Given the description of an element on the screen output the (x, y) to click on. 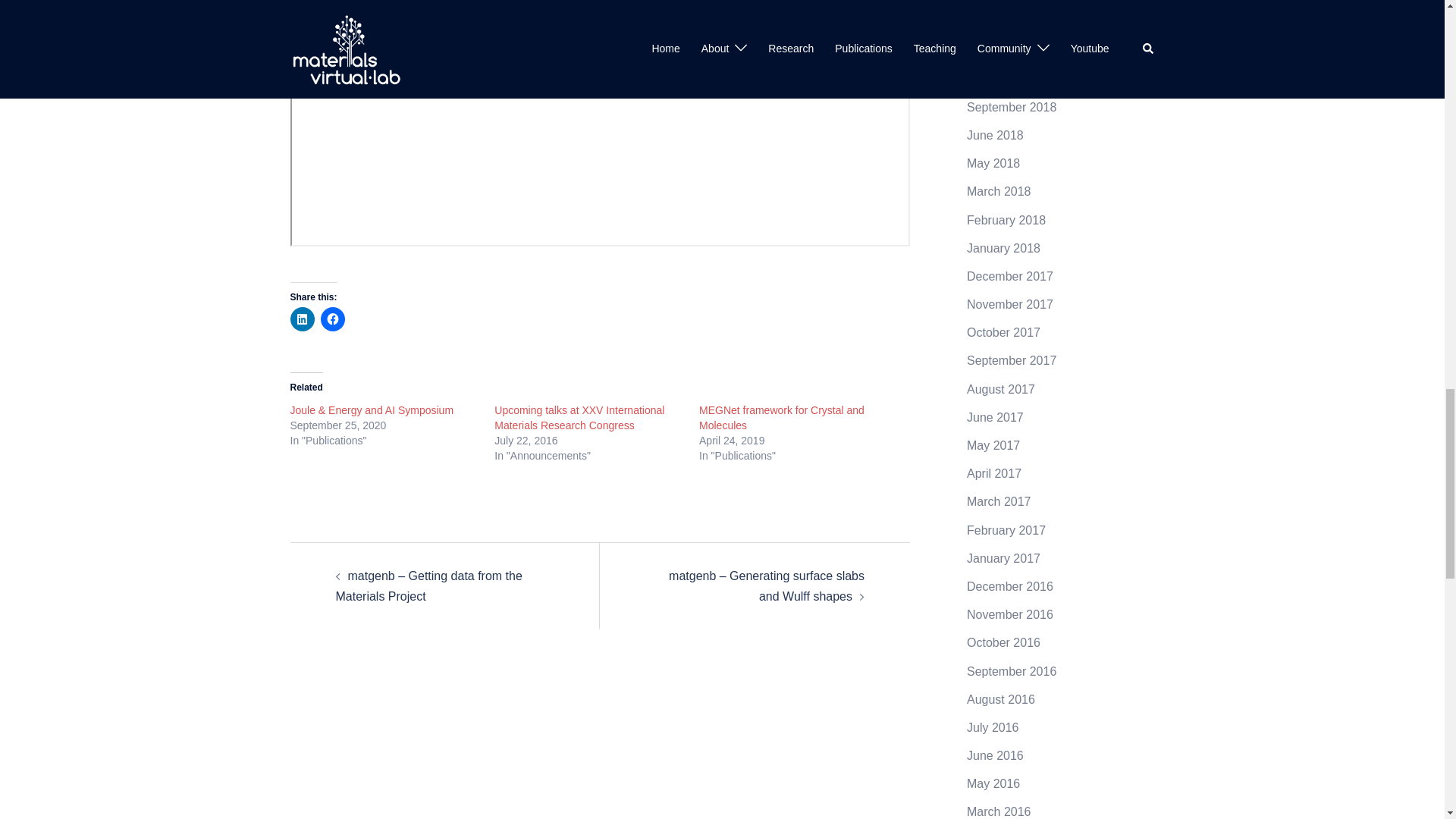
MEGNet framework for Crystal and Molecules (781, 417)
Click to share on LinkedIn (301, 319)
Click to share on Facebook (331, 319)
